Given the description of an element on the screen output the (x, y) to click on. 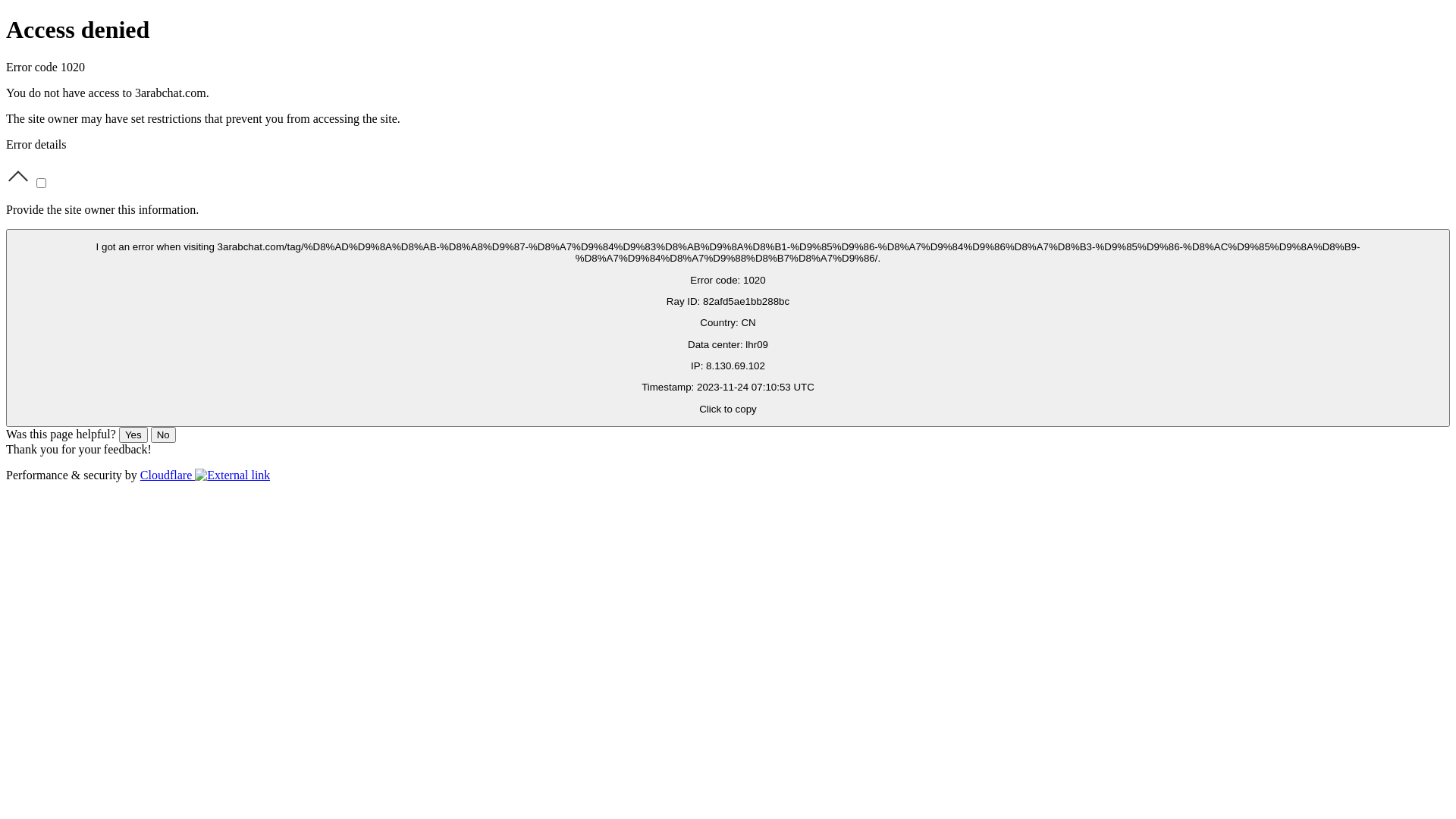
Cloudflare Element type: text (205, 474)
No Element type: text (162, 434)
Yes Element type: text (133, 434)
Opens in new tab Element type: hover (231, 475)
